Given the description of an element on the screen output the (x, y) to click on. 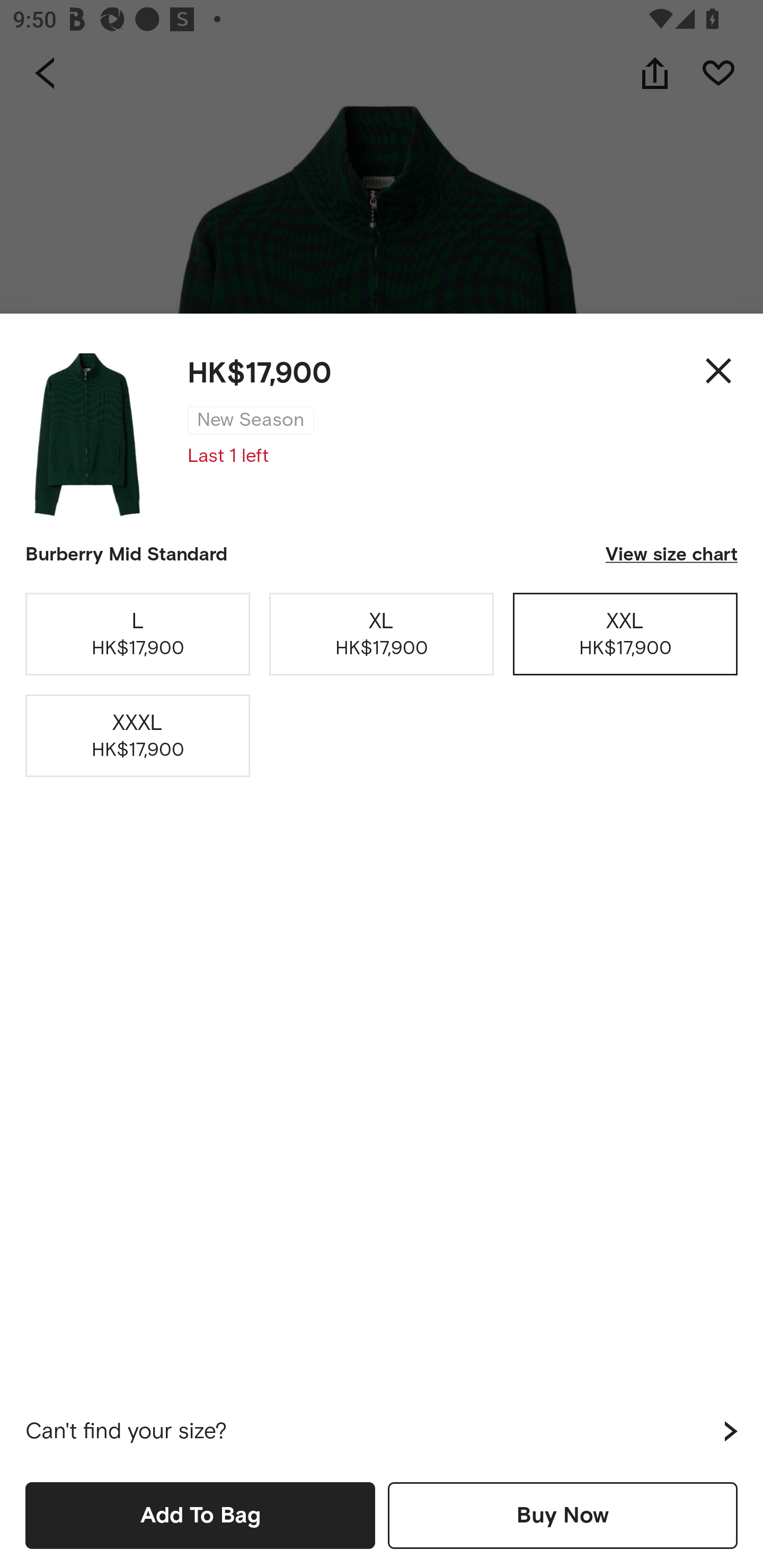
L HK$17,900 (137, 633)
XL HK$17,900 (381, 633)
XXL HK$17,900 (624, 633)
XXXL HK$17,900 (137, 735)
Can't find your size? (381, 1431)
Add To Bag (200, 1515)
Buy Now (562, 1515)
